Given the description of an element on the screen output the (x, y) to click on. 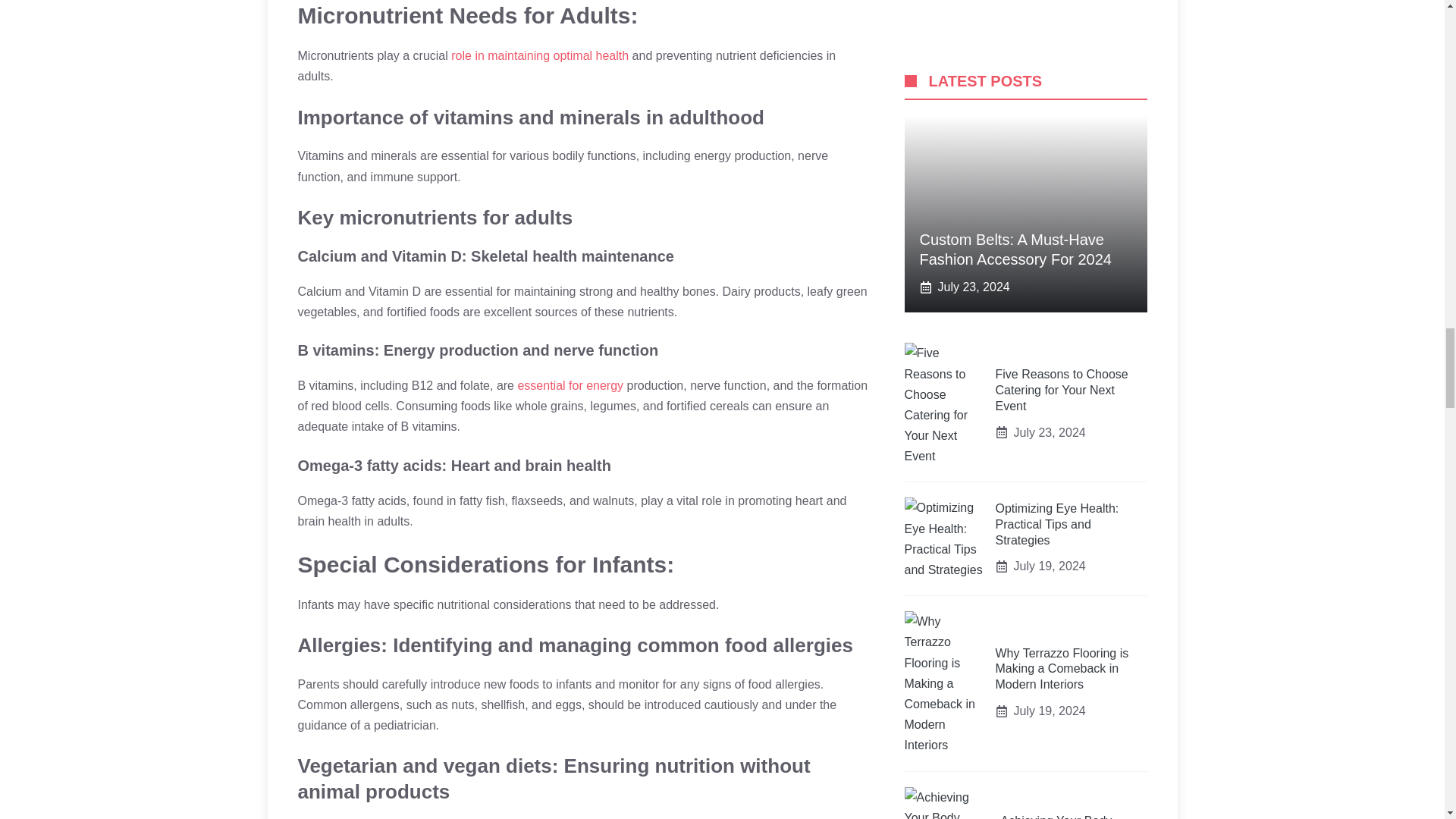
role in maintaining optimal health (539, 55)
essential for energy (569, 385)
